Given the description of an element on the screen output the (x, y) to click on. 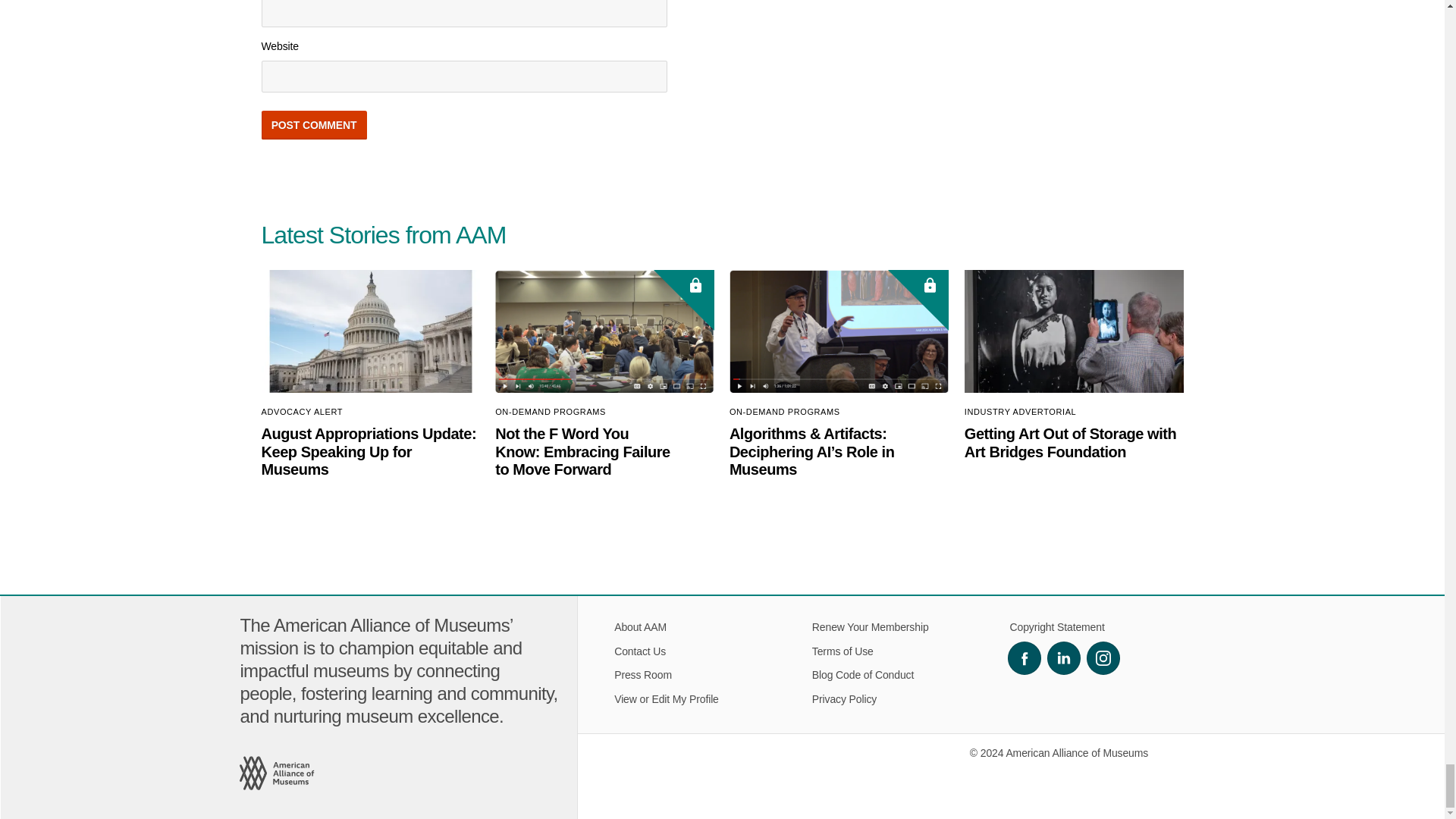
Facebook (1024, 657)
Post Comment (313, 125)
Instagram (1102, 657)
LinkedIn (1063, 657)
American Alliance of Museums (277, 773)
